Given the description of an element on the screen output the (x, y) to click on. 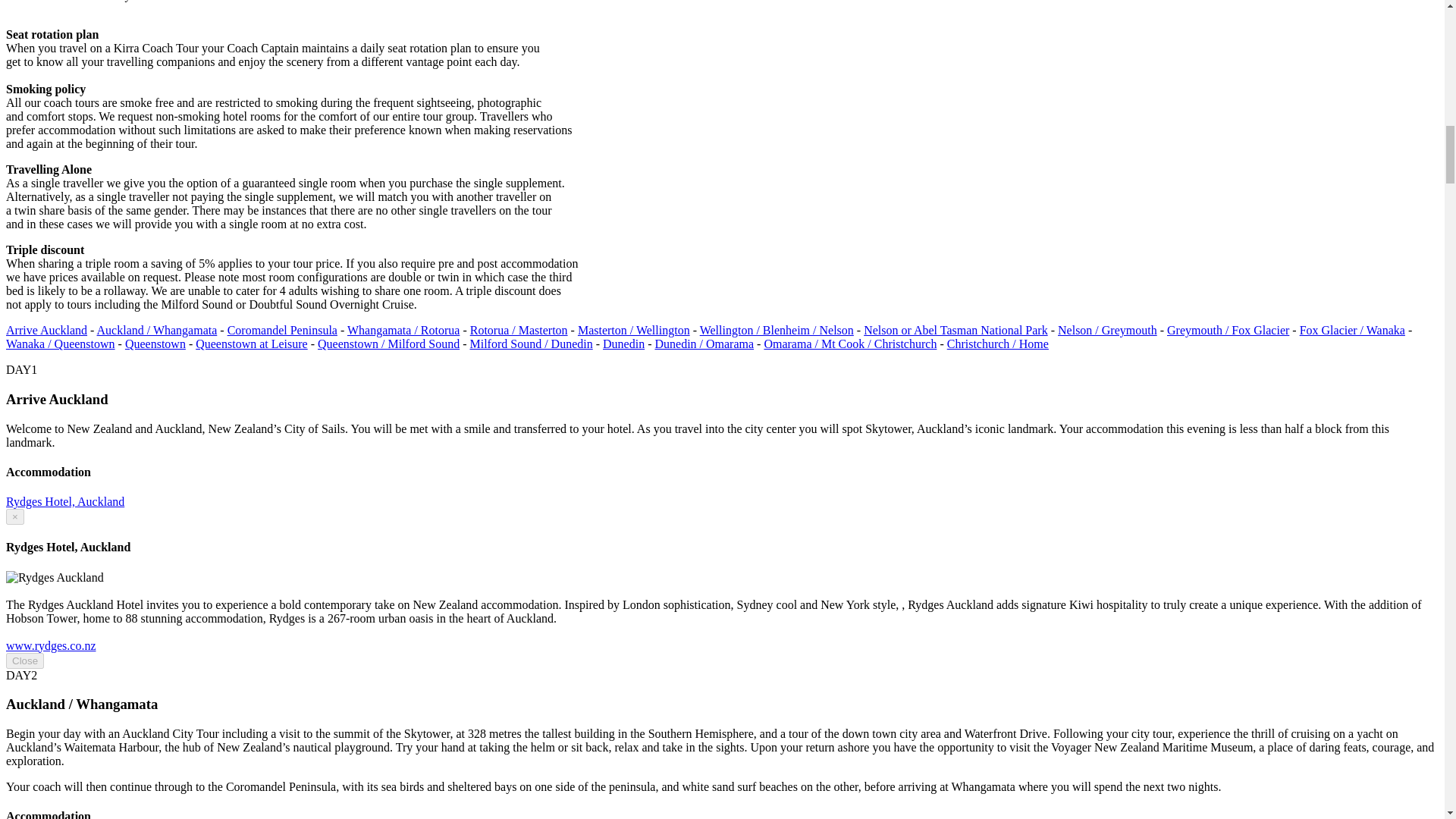
Queenstown at Leisure (251, 343)
Nelson or Abel Tasman National Park (955, 329)
Dunedin (623, 343)
Rydges Hotel, Auckland (64, 501)
Rydges Auckland (50, 645)
Arrive Auckland (46, 329)
Coromandel Peninsula (282, 329)
Queenstown (155, 343)
